Given the description of an element on the screen output the (x, y) to click on. 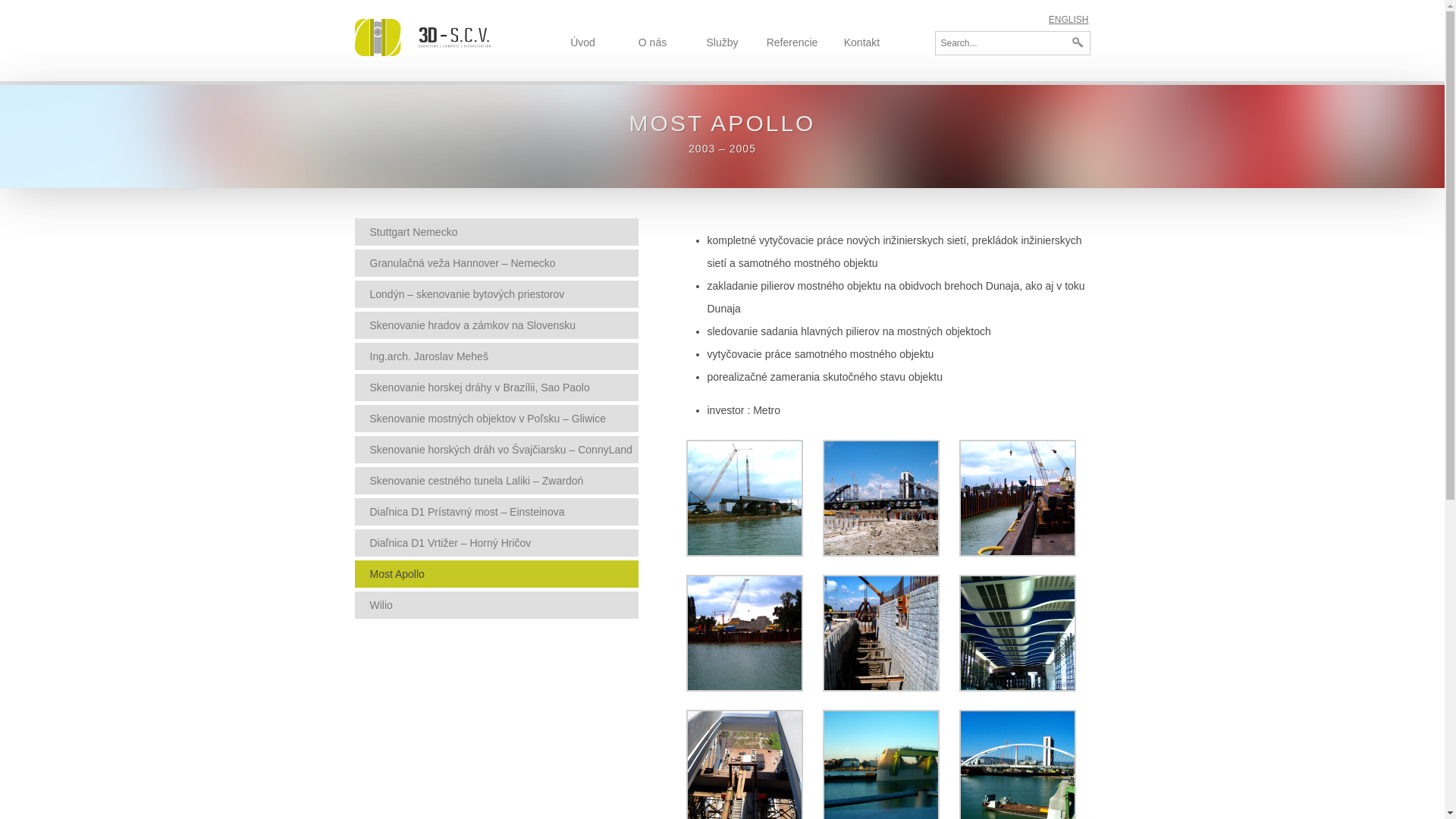
Most Apollo Element type: text (496, 573)
Referencie Element type: text (791, 55)
Wilio Element type: text (496, 604)
Kontakt Element type: text (861, 55)
Stuttgart Nemecko Element type: text (496, 231)
ENGLISH Element type: text (1068, 19)
